Given the description of an element on the screen output the (x, y) to click on. 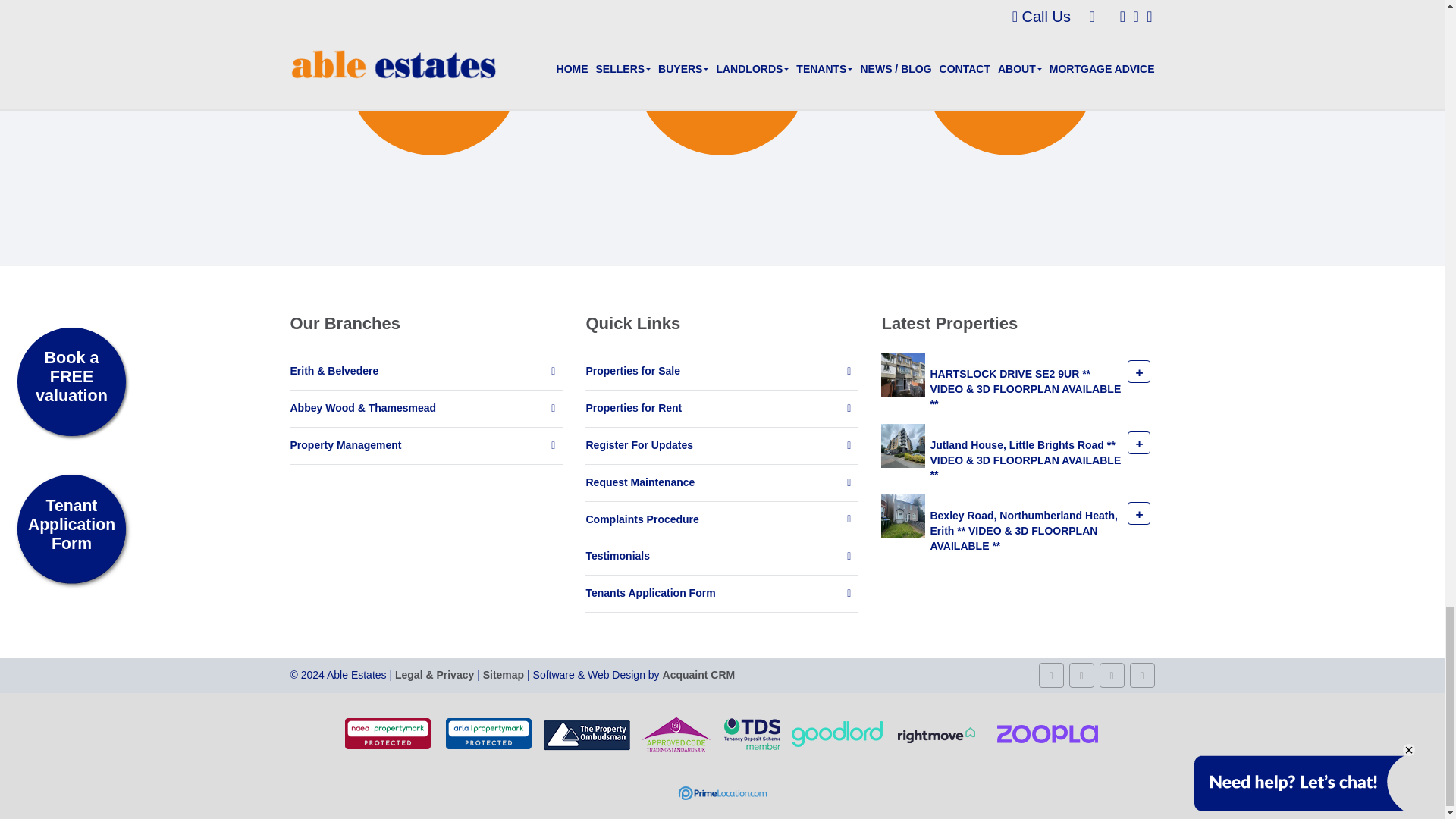
Property For Sale Bexley Road, Northumberland Heath, Erith (902, 515)
Property For Sale Hartslock Drive, Abbey Wood, London (902, 372)
